Given the description of an element on the screen output the (x, y) to click on. 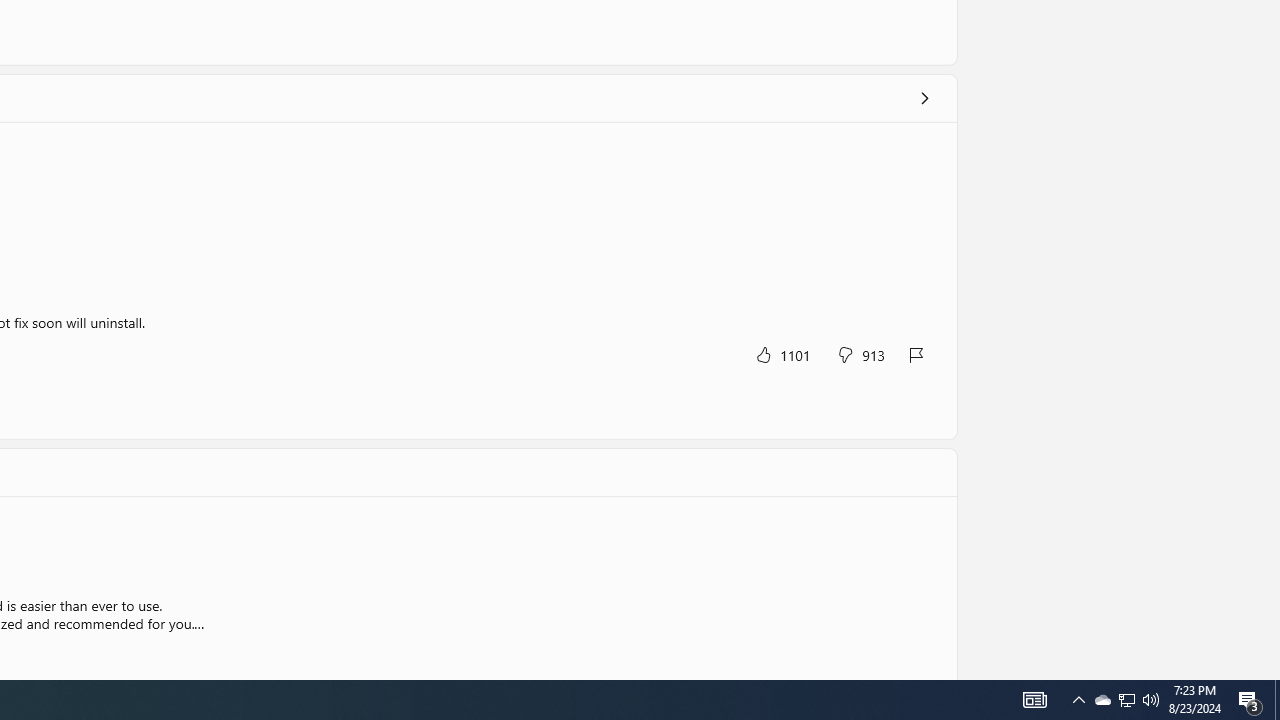
Yes, this was helpful. 1101 votes. (782, 354)
Show all ratings and reviews (924, 97)
Report review (917, 354)
No, this was not helpful. 913 votes. (860, 354)
